Given the description of an element on the screen output the (x, y) to click on. 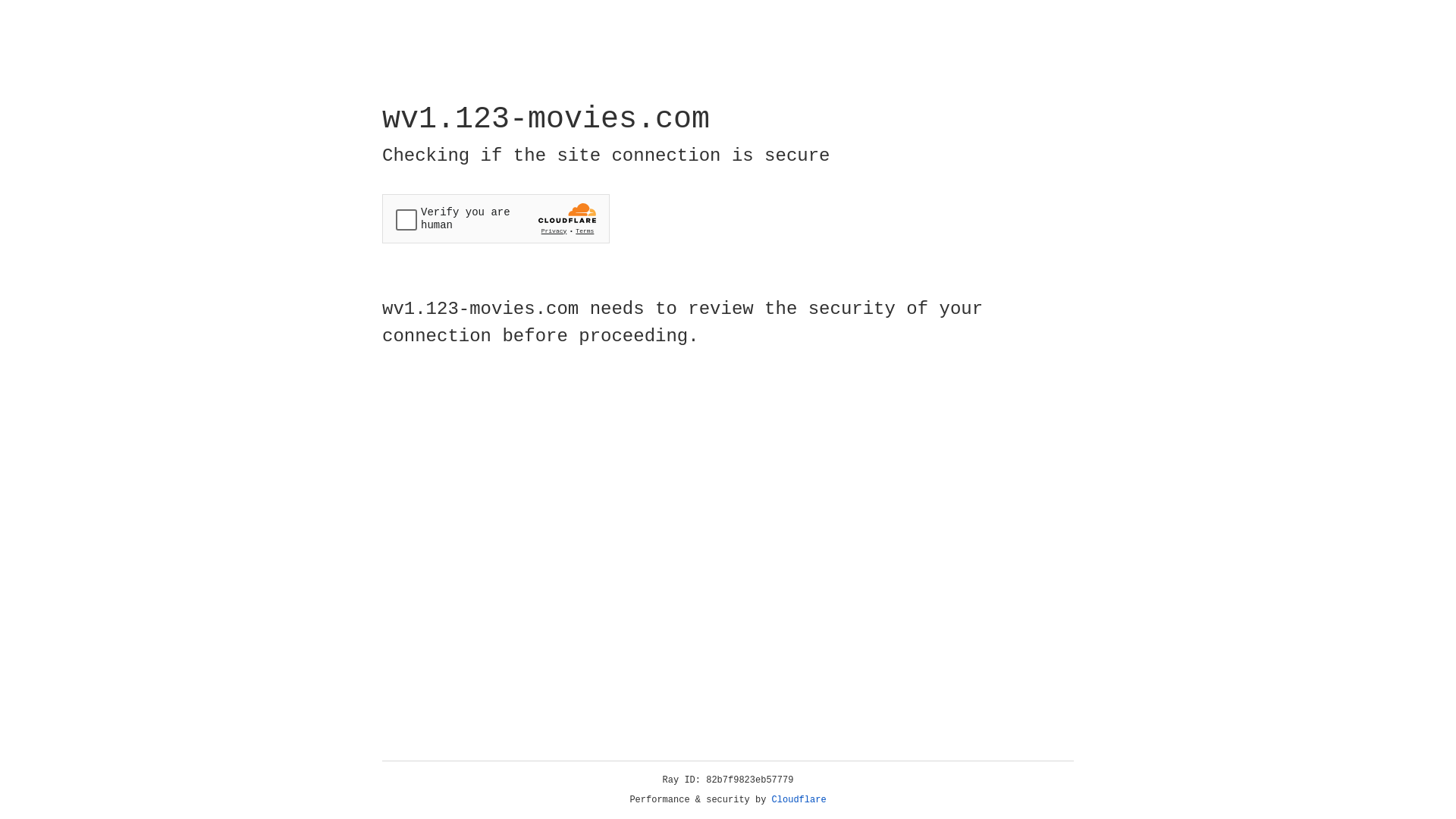
Widget containing a Cloudflare security challenge Element type: hover (495, 218)
Cloudflare Element type: text (798, 799)
